Given the description of an element on the screen output the (x, y) to click on. 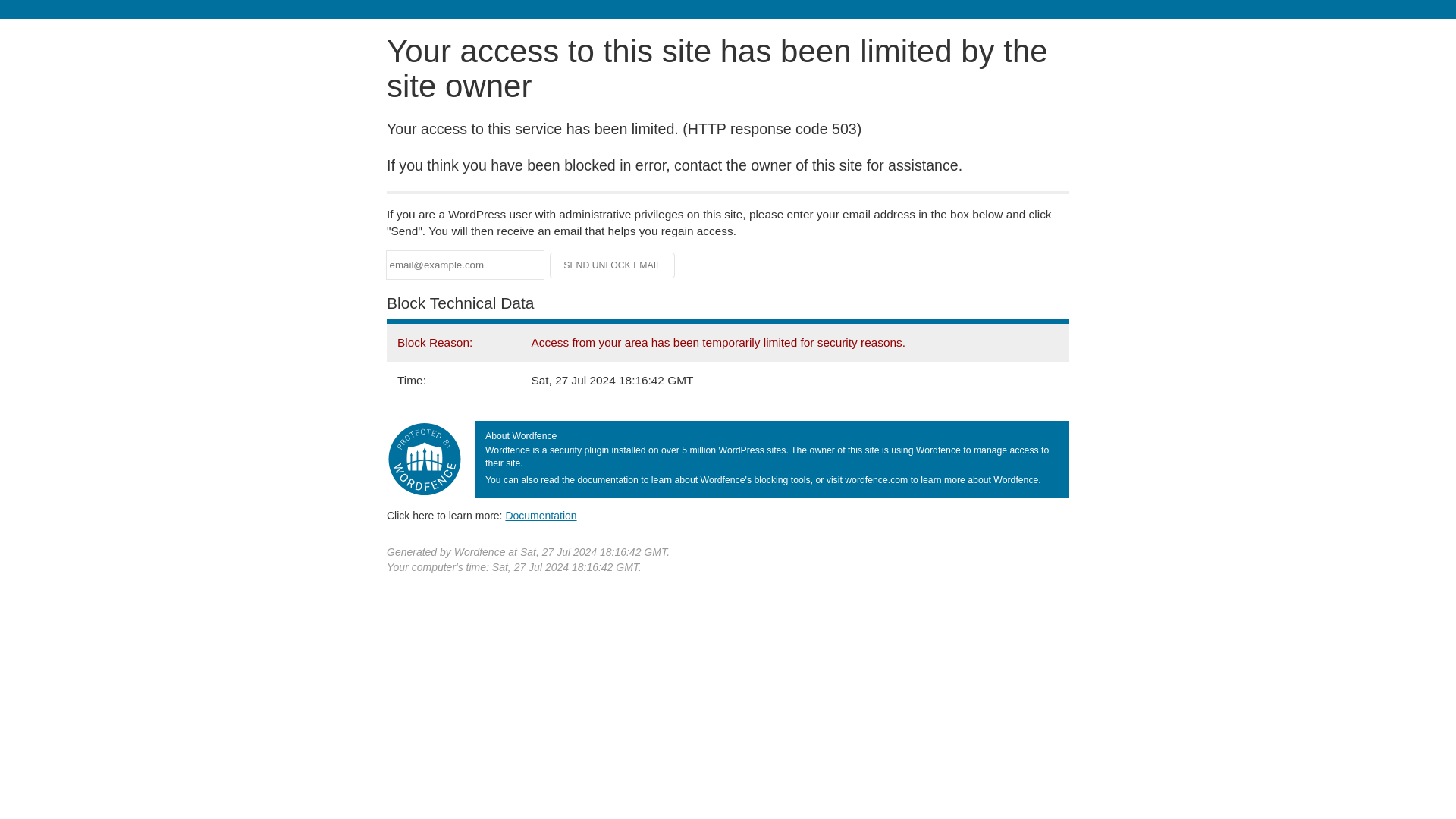
Documentation (540, 515)
Send Unlock Email (612, 265)
Send Unlock Email (612, 265)
